Given the description of an element on the screen output the (x, y) to click on. 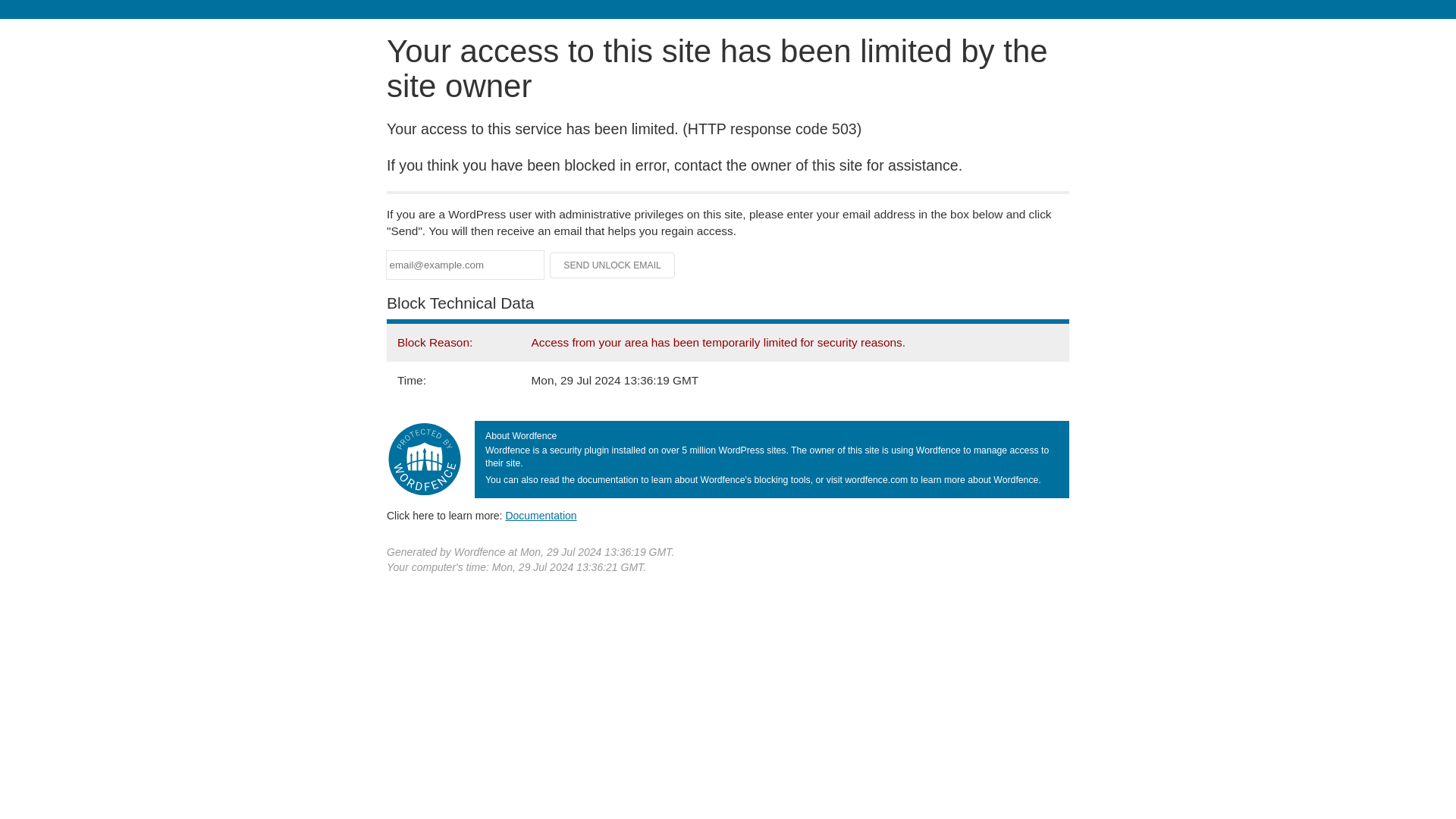
Documentation (540, 515)
Send Unlock Email (612, 265)
Send Unlock Email (612, 265)
